Given the description of an element on the screen output the (x, y) to click on. 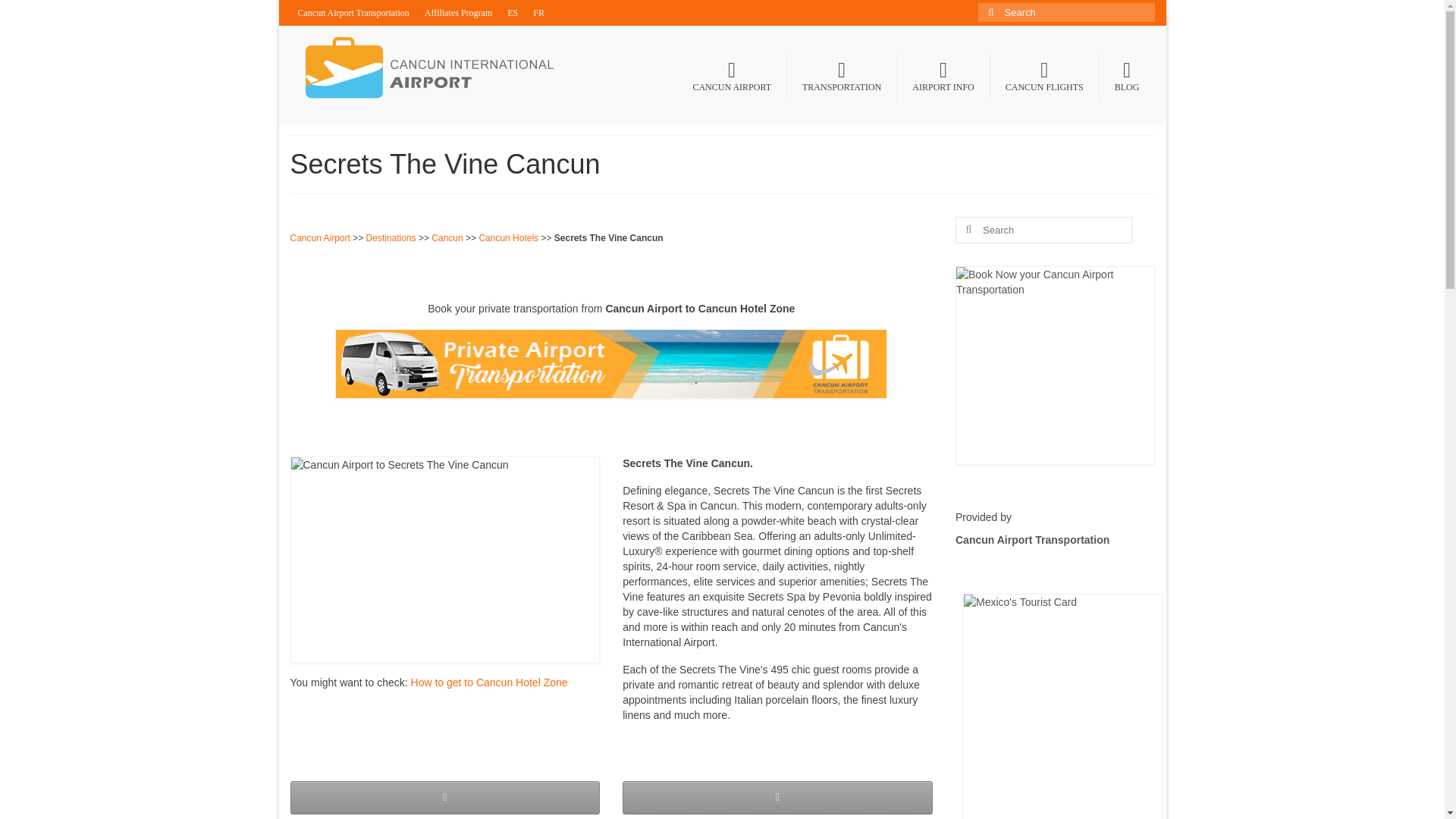
ES (512, 12)
BLOG (1126, 76)
Destinations (391, 237)
Cancun Hotels (508, 237)
CANCUN FLIGHTS (1044, 76)
Cancun (446, 237)
Cancun Airport Transportation (352, 12)
How to get to Cancun Hotel Zone (488, 682)
TRANSPORTATION (841, 76)
CANCUN AIRPORT (731, 76)
Cancun Airport Transportation (1032, 539)
Cancun Airport Private Transportation (610, 363)
FR (538, 12)
Cancun Airport (319, 237)
AIRPORT INFO (942, 76)
